Given the description of an element on the screen output the (x, y) to click on. 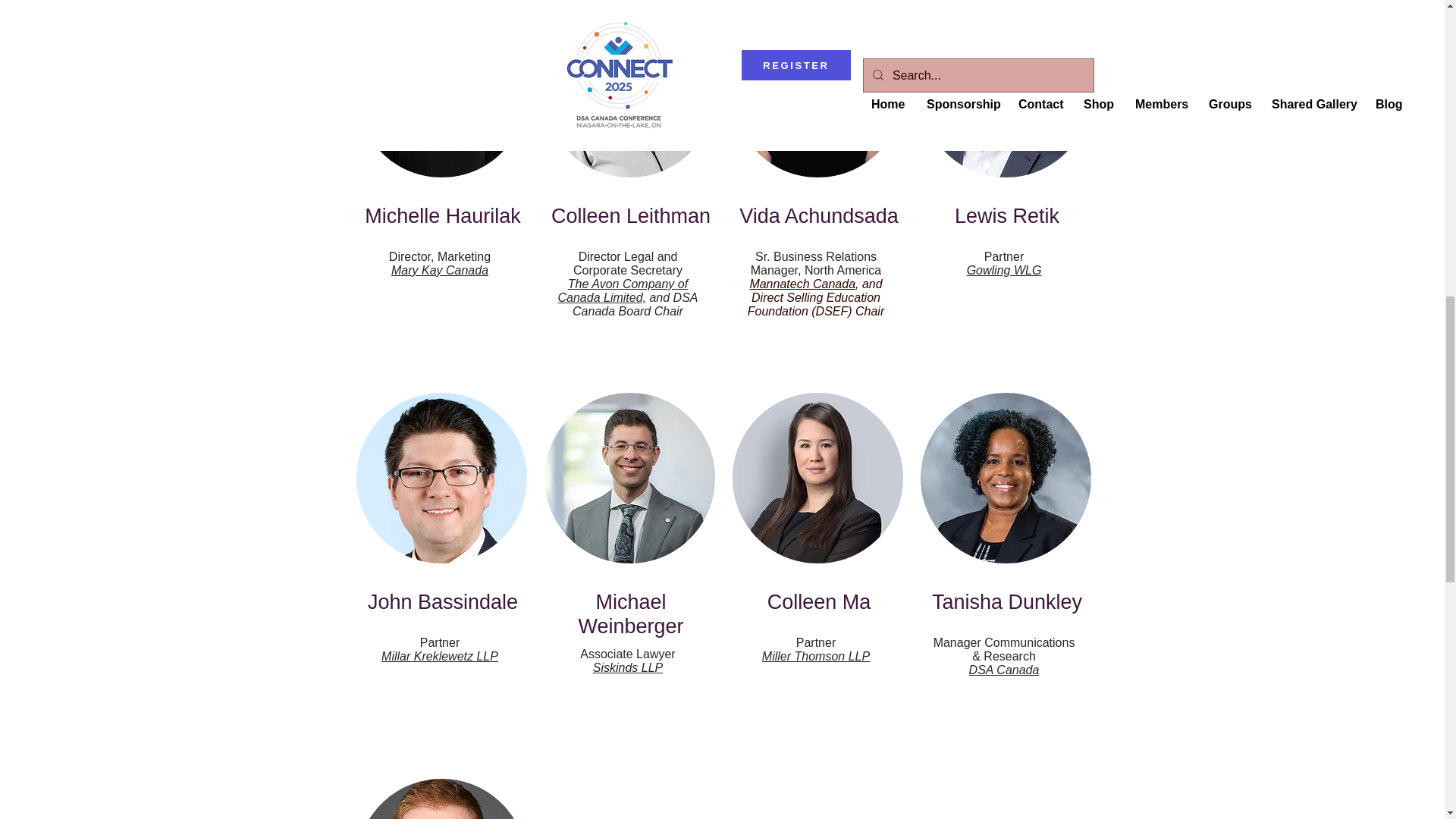
Mary Kay Canada (439, 269)
Millar Kreklewetz LLP (439, 656)
Gowling WLG (1004, 269)
DSA Canada (1004, 669)
Miller Thomson LLP (815, 656)
Siskinds LLP (627, 667)
